Given the description of an element on the screen output the (x, y) to click on. 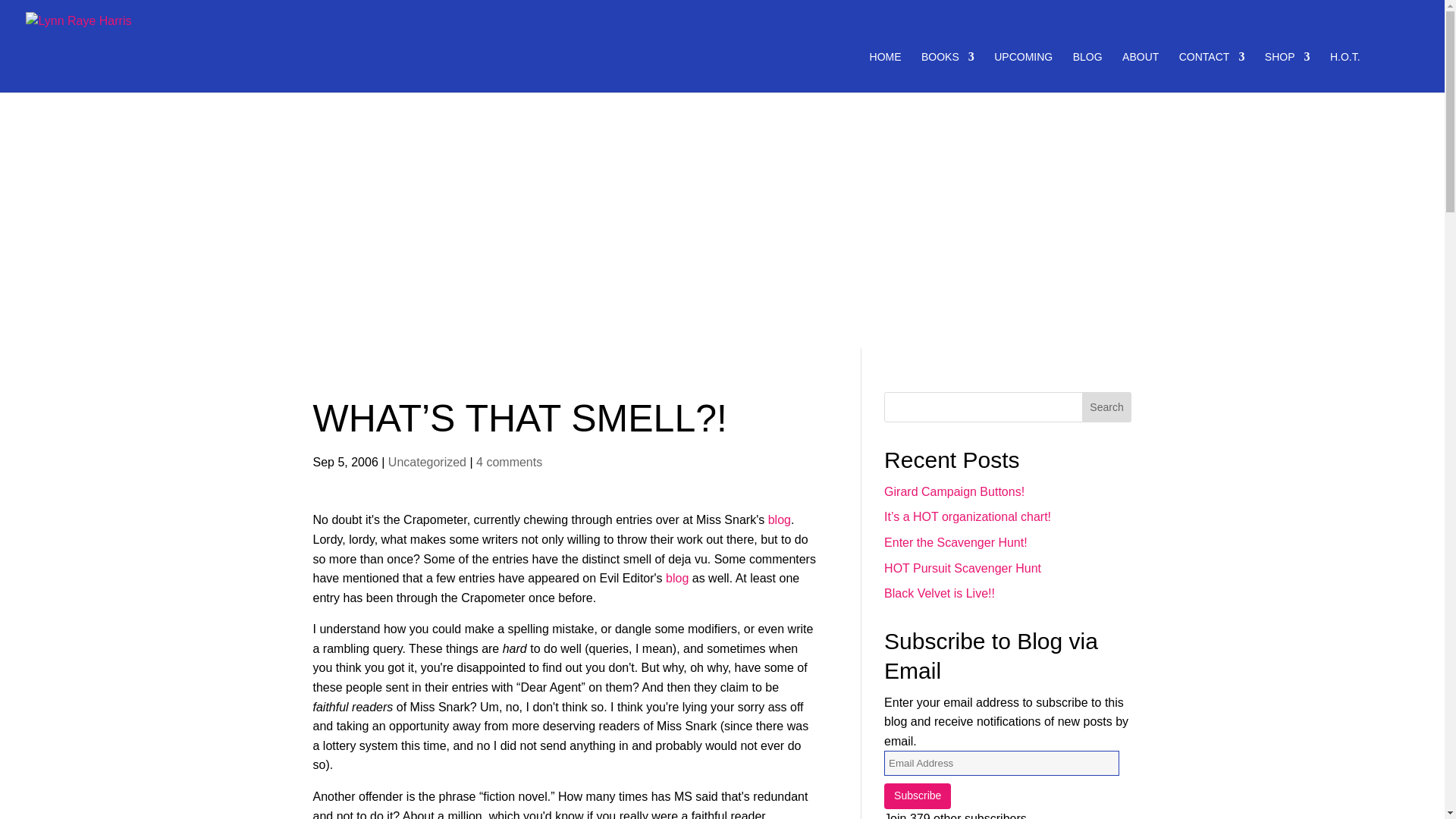
Search (1106, 407)
Black Velvet is Live!! (938, 593)
ABOUT (1140, 71)
Search (1106, 407)
Enter the Scavenger Hunt! (955, 542)
Girard Campaign Buttons! (954, 491)
blog (676, 577)
Subscribe (916, 795)
CONTACT (1211, 71)
Uncategorized (426, 461)
HOT Pursuit Scavenger Hunt (962, 567)
BOOKS (947, 71)
4 comments (508, 461)
UPCOMING (1023, 71)
blog (779, 519)
